Given the description of an element on the screen output the (x, y) to click on. 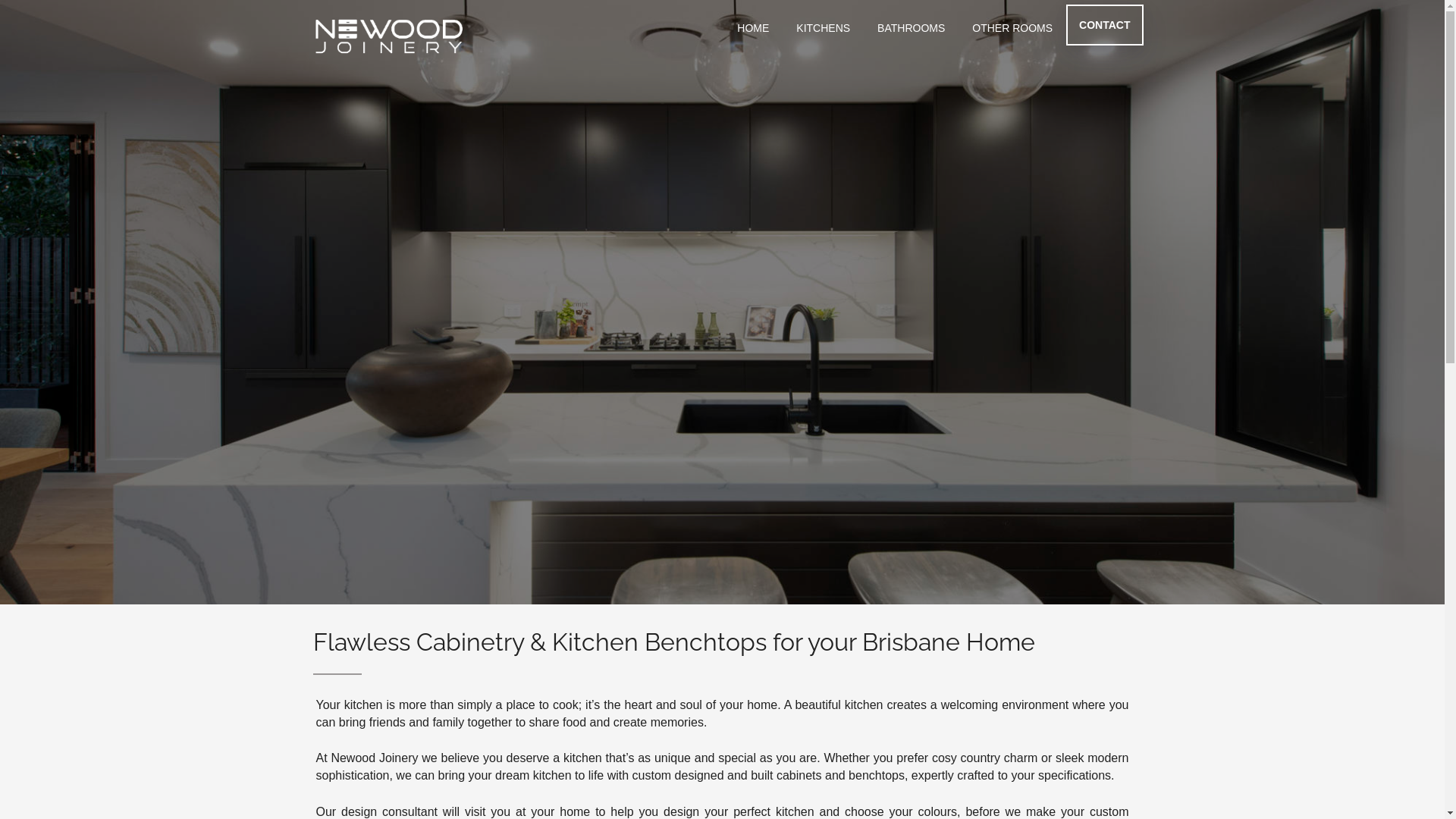
CONTACT Element type: text (1104, 24)
BATHROOMS Element type: text (910, 28)
OTHER ROOMS Element type: text (1012, 28)
Premium Kitchen Element type: hover (722, 302)
HOME Element type: text (752, 28)
Newood Joinery Logo Element type: hover (388, 35)
KITCHENS Element type: text (822, 28)
